Given the description of an element on the screen output the (x, y) to click on. 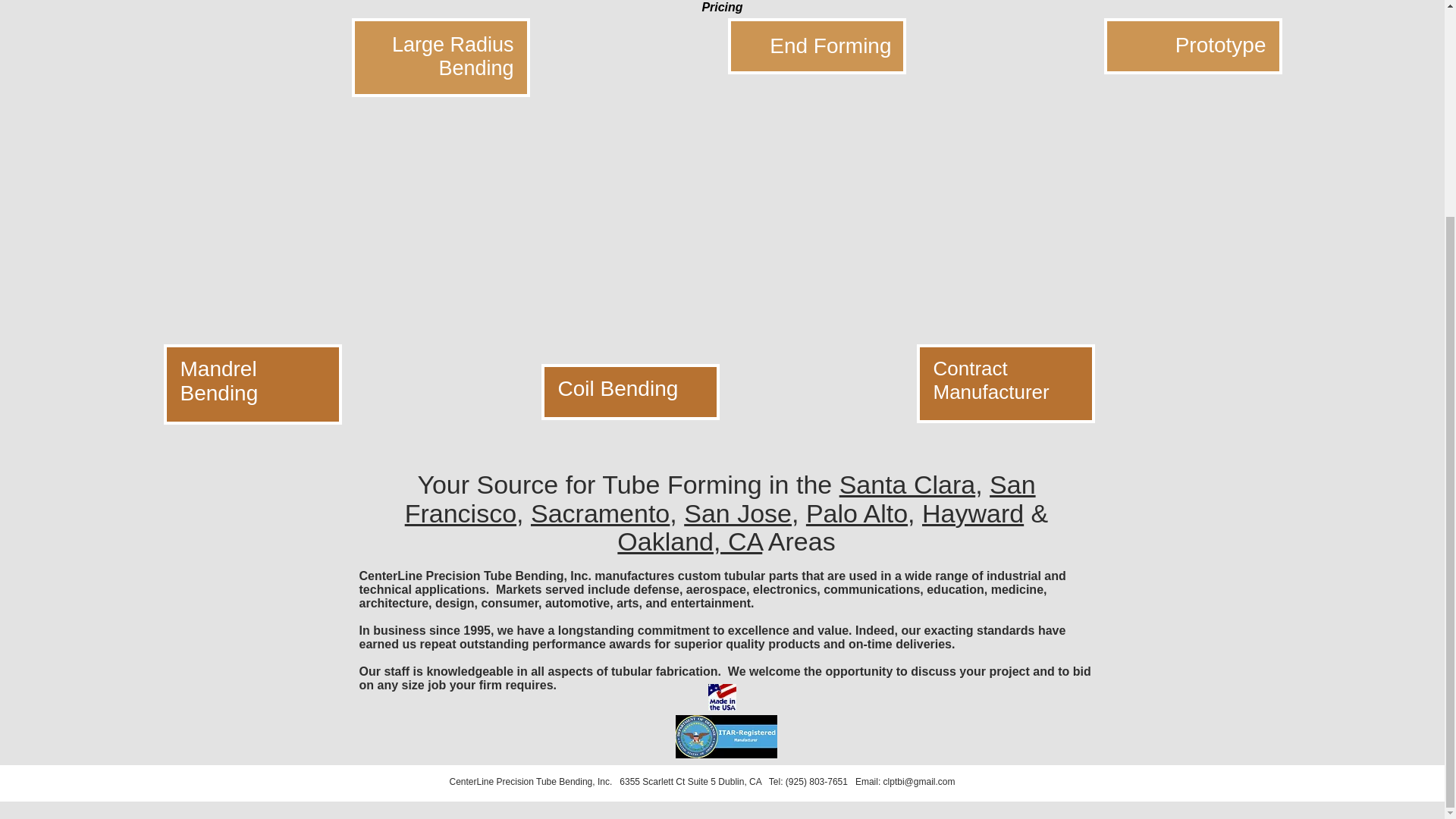
San Francisco (719, 498)
Oakland, CA (689, 541)
Sacramento (600, 512)
Hayward (972, 512)
Palo Alto (856, 512)
Santa Clara (907, 484)
San Jose (738, 512)
